Given the description of an element on the screen output the (x, y) to click on. 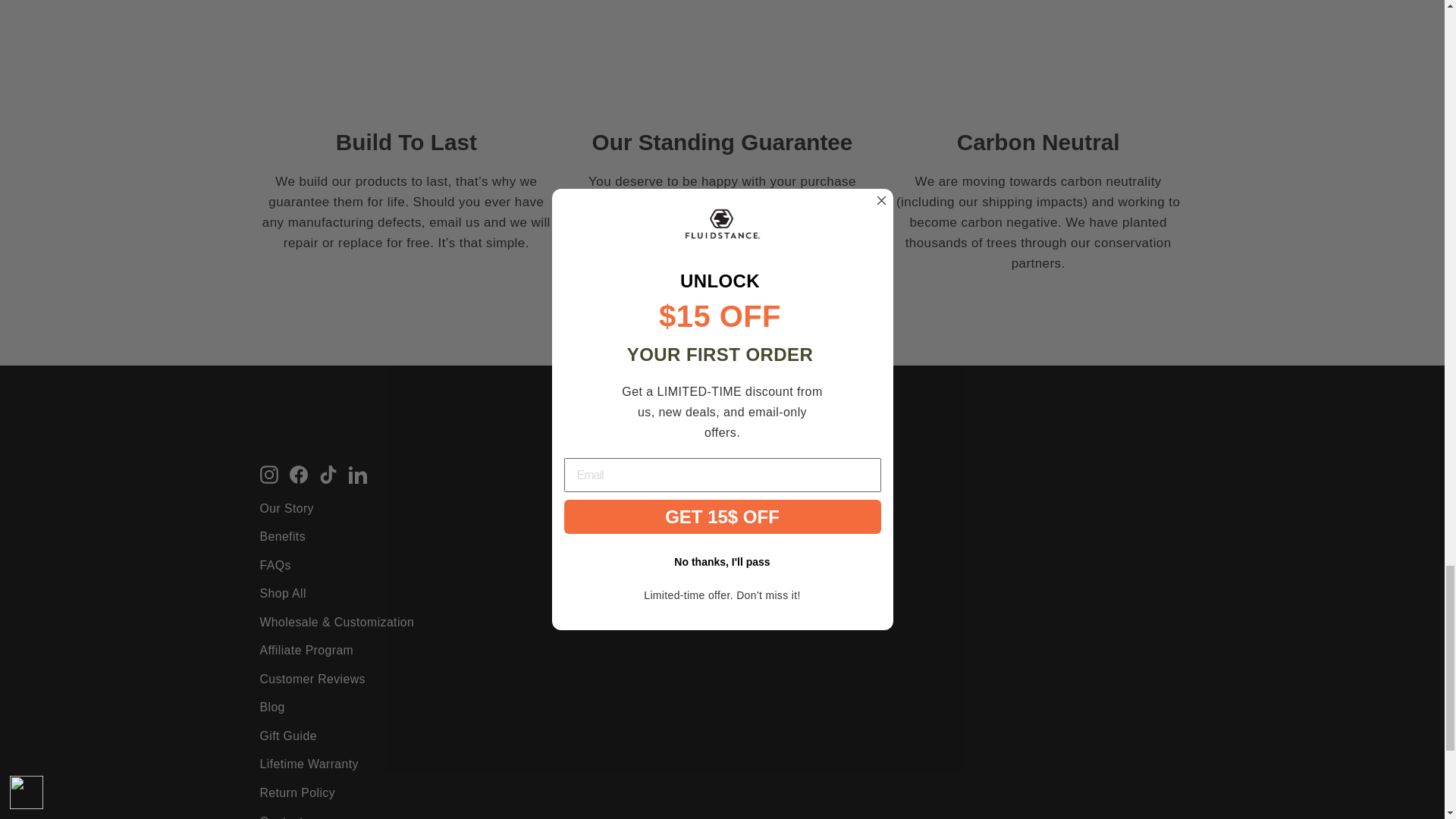
FluidStance on TikTok (327, 473)
FluidStance on Instagram (268, 473)
instagram (268, 475)
FluidStance on Facebook (298, 473)
FluidStance on LinkedIn (357, 473)
